Given the description of an element on the screen output the (x, y) to click on. 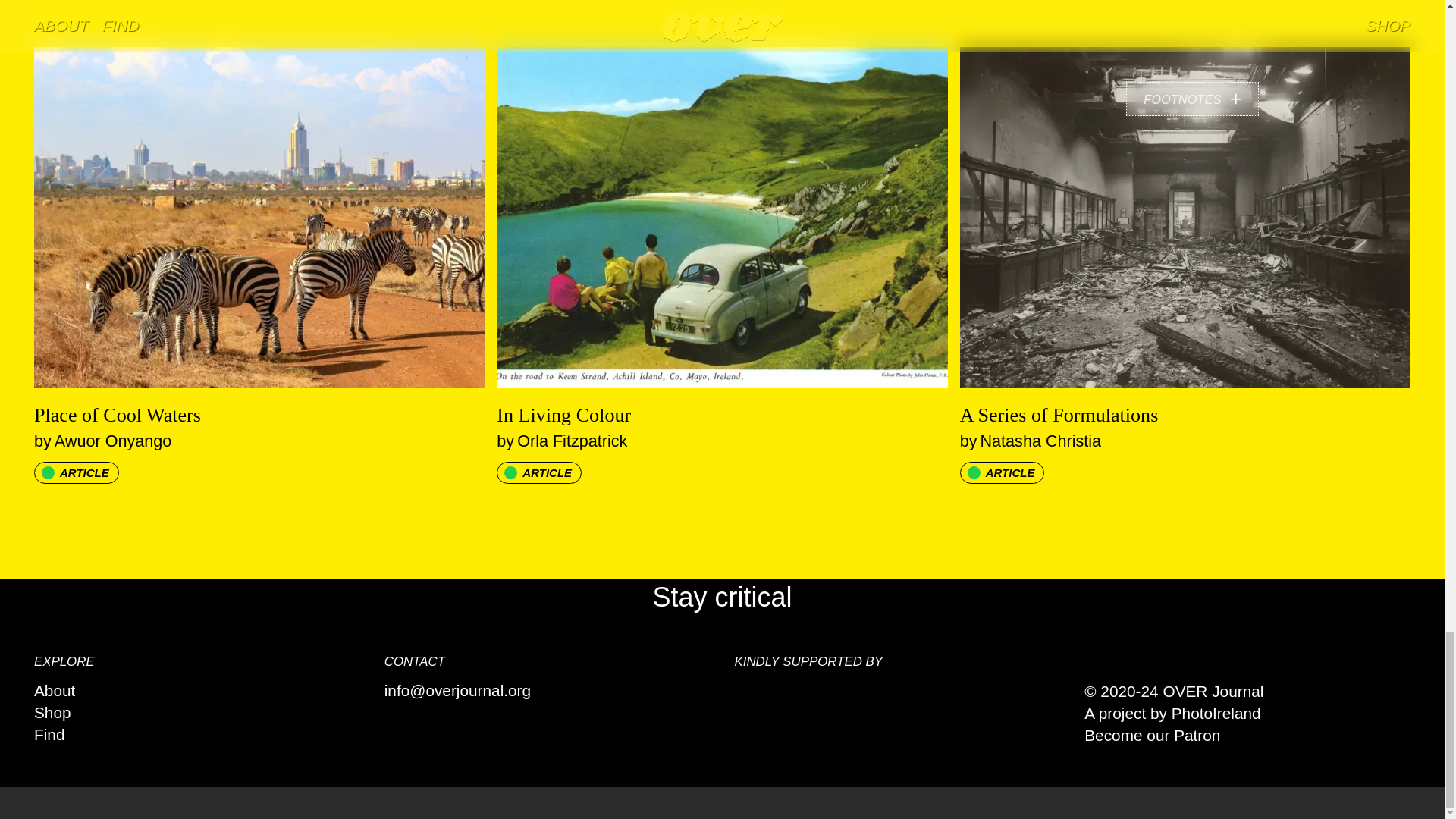
A project by PhotoIreland (196, 691)
Become our Patron (196, 734)
